Given the description of an element on the screen output the (x, y) to click on. 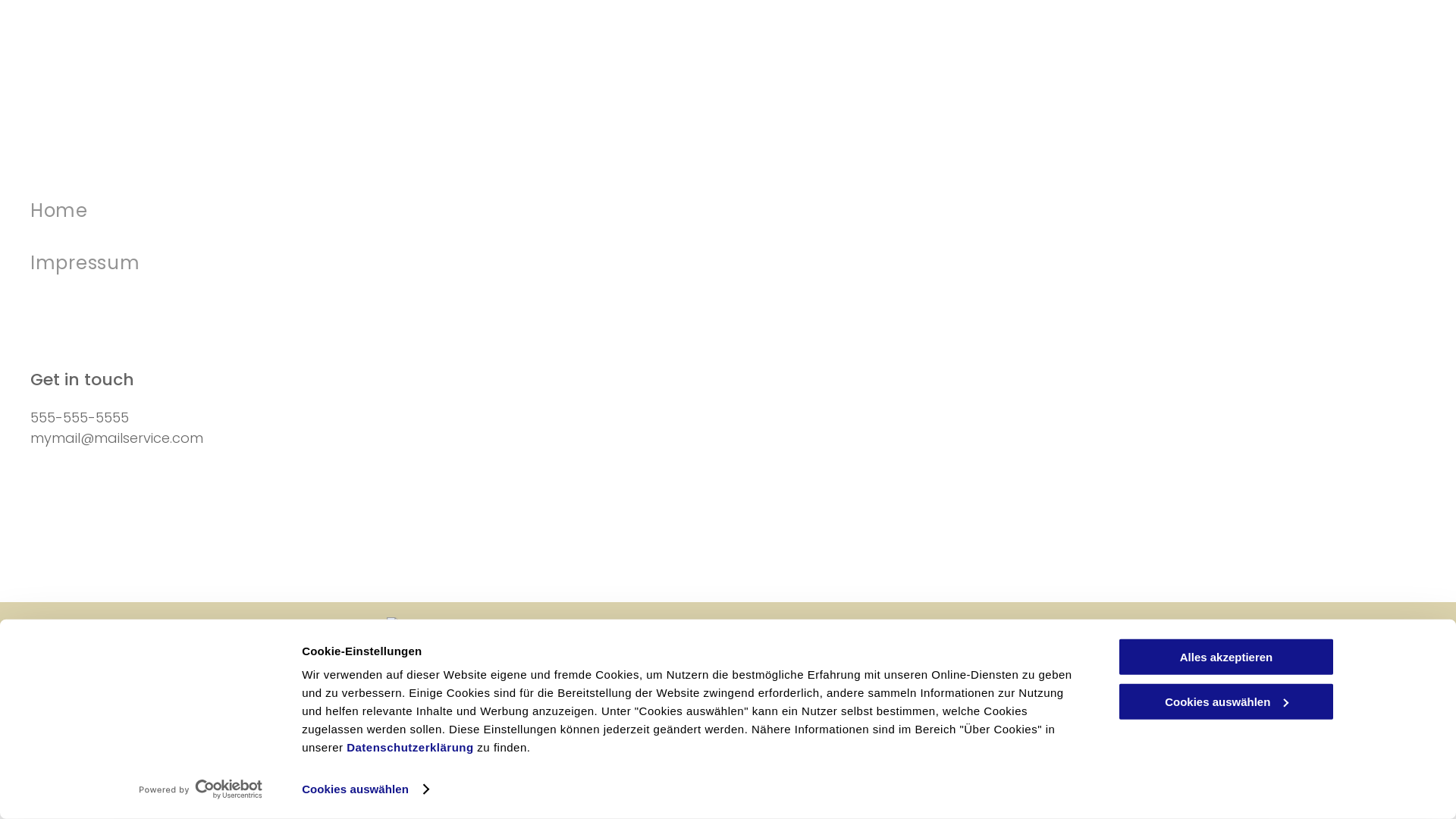
Alles akzeptieren Element type: text (1225, 656)
Home Element type: text (386, 210)
Impressum Element type: text (386, 263)
